Given the description of an element on the screen output the (x, y) to click on. 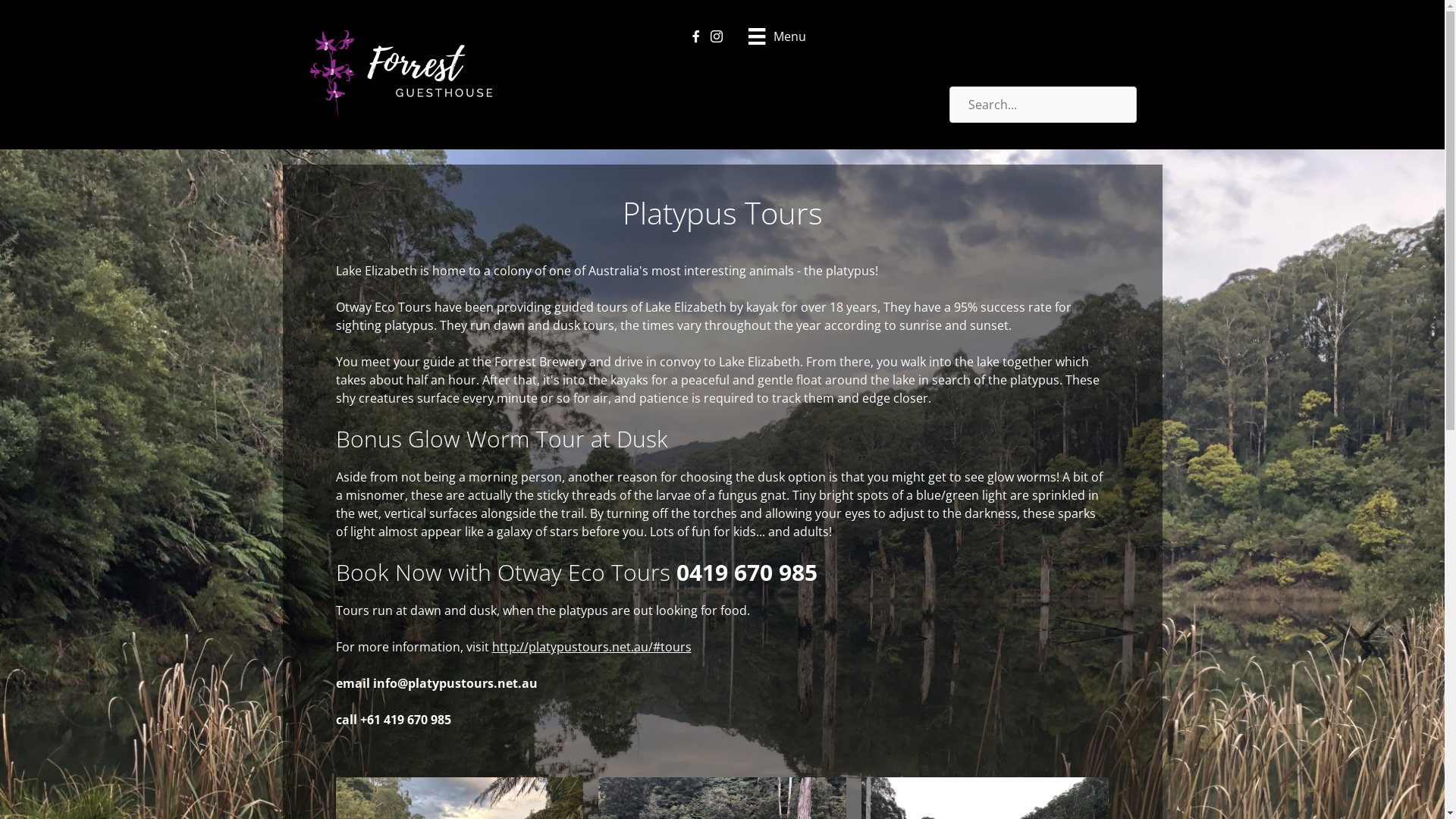
Menu Element type: text (776, 35)
http://platypustours.net.au/#tours Element type: text (590, 646)
Forrest Guesthouse Self-Contained Accommodation Element type: hover (405, 74)
